Given the description of an element on the screen output the (x, y) to click on. 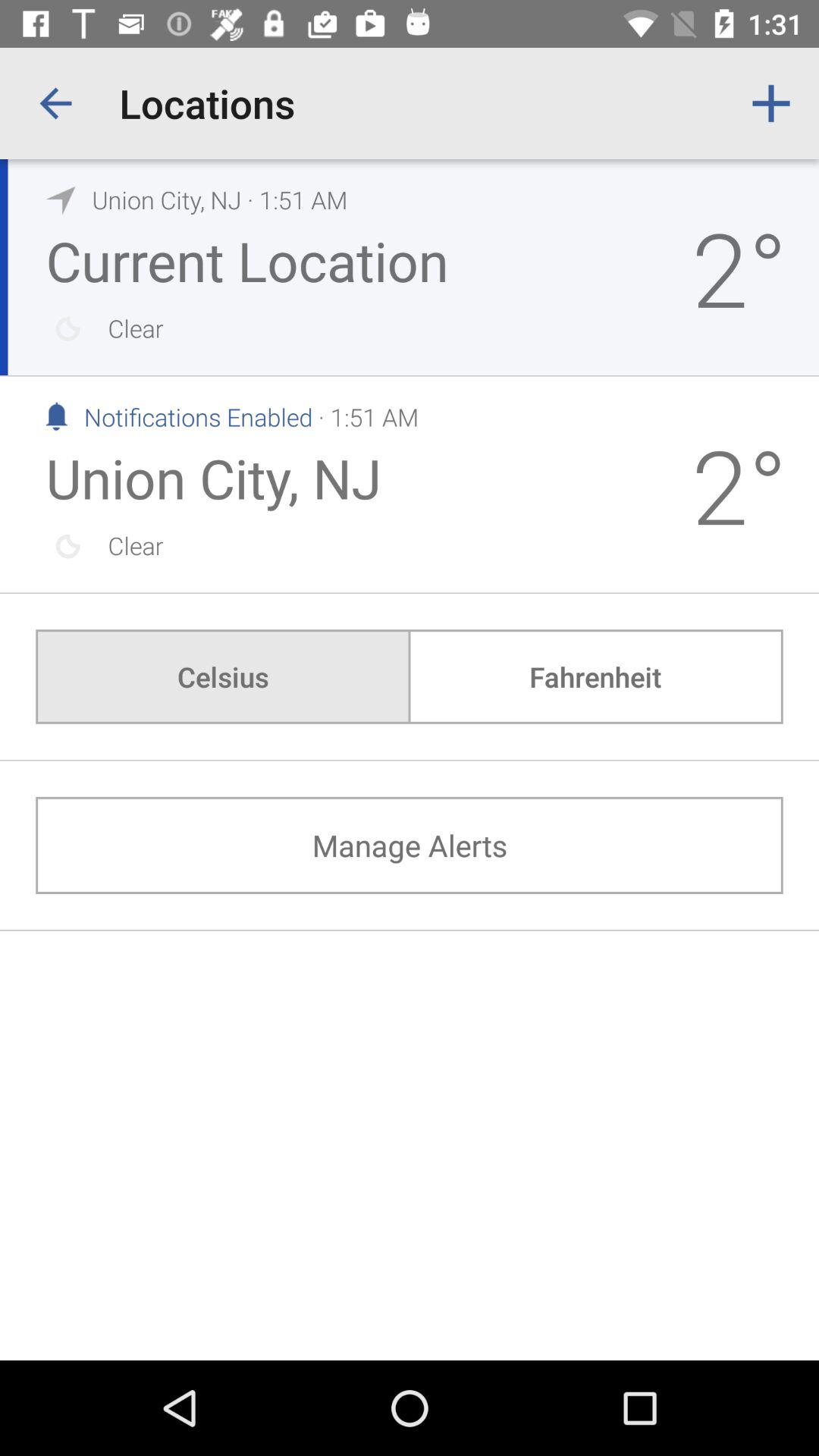
choose the icon on the right (595, 676)
